Given the description of an element on the screen output the (x, y) to click on. 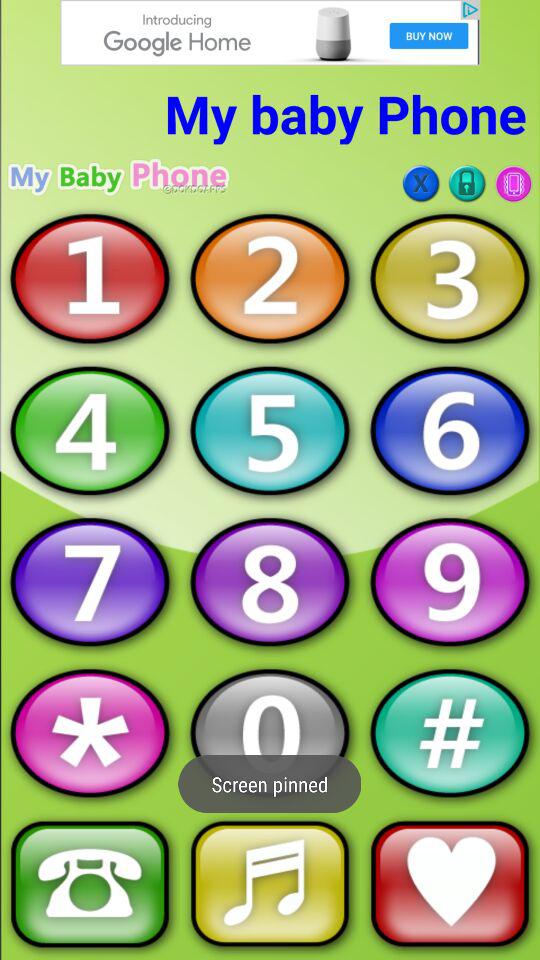
enter google home (270, 32)
